Given the description of an element on the screen output the (x, y) to click on. 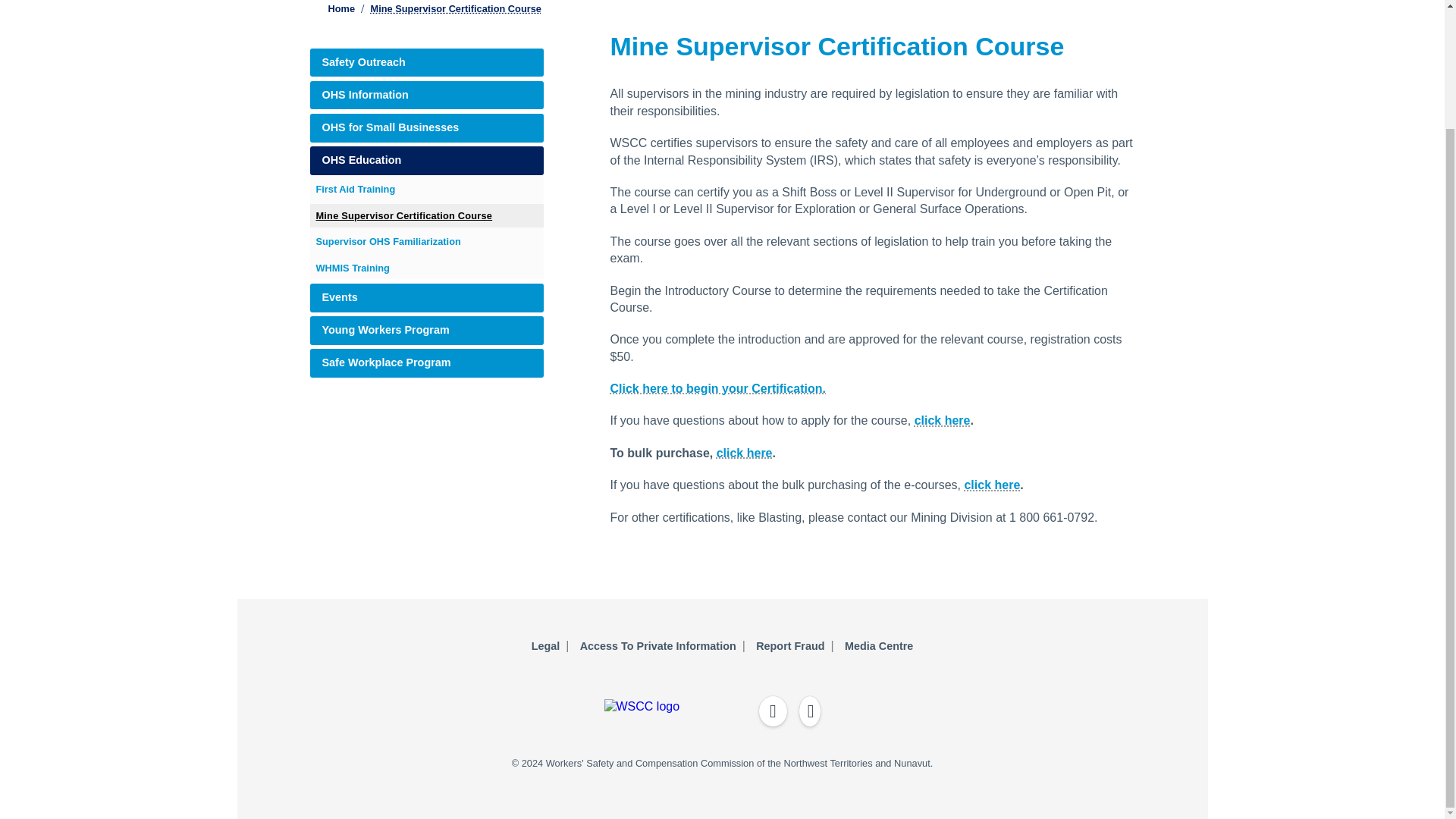
Like us on Facebook (772, 711)
 WSCC Homepage  (502, 706)
Follow us on Twitter (810, 711)
